Given the description of an element on the screen output the (x, y) to click on. 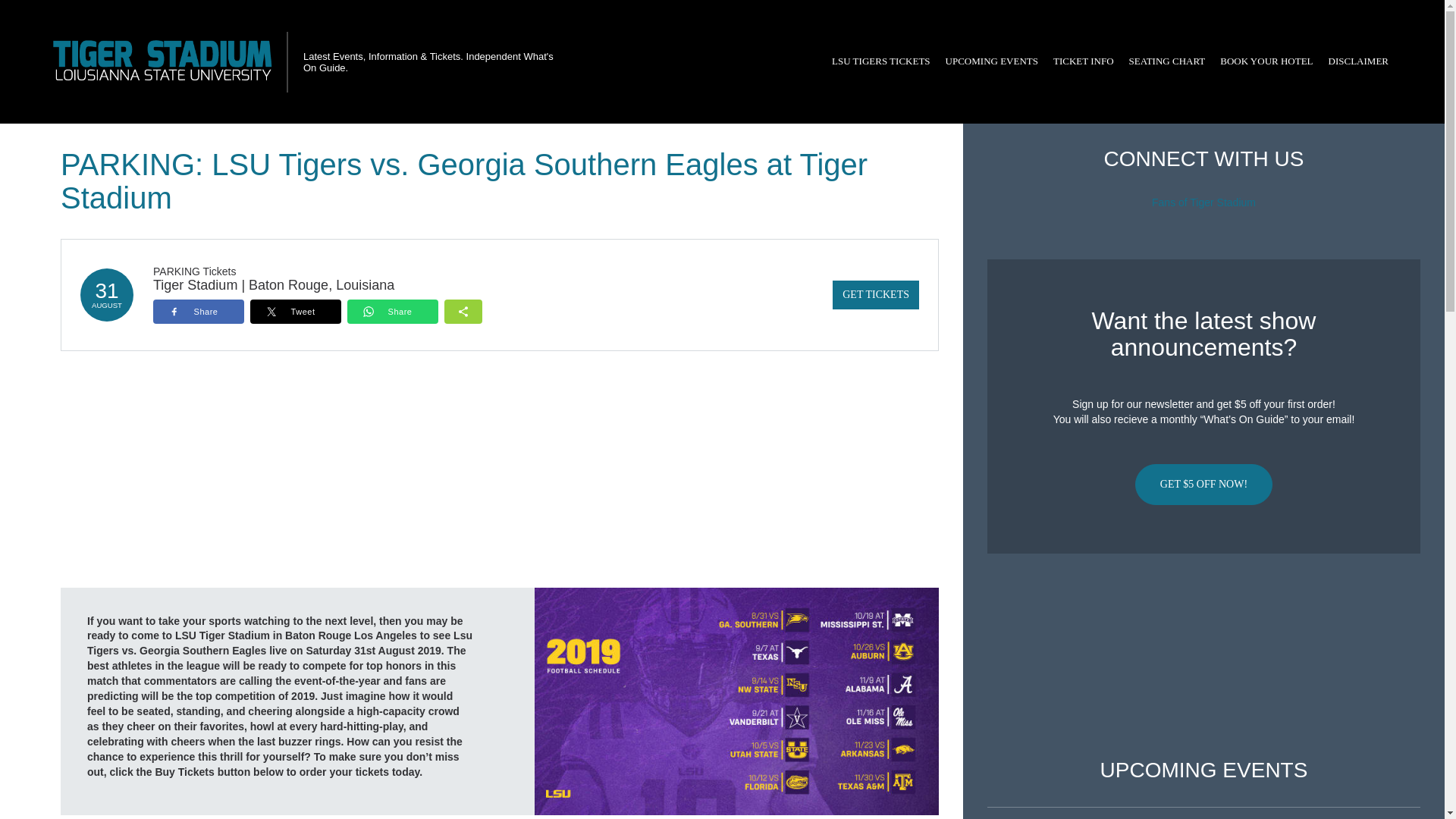
Fans of Tiger Stadium (1203, 202)
LSU TIGERS TICKETS (880, 61)
BOOK YOUR HOTEL (1266, 61)
GET TICKETS (875, 294)
PARKING Tickets (193, 271)
SEATING CHART (1166, 61)
UPCOMING EVENTS (991, 61)
DISCLAIMER (1358, 61)
TICKET INFO (1083, 61)
